Given the description of an element on the screen output the (x, y) to click on. 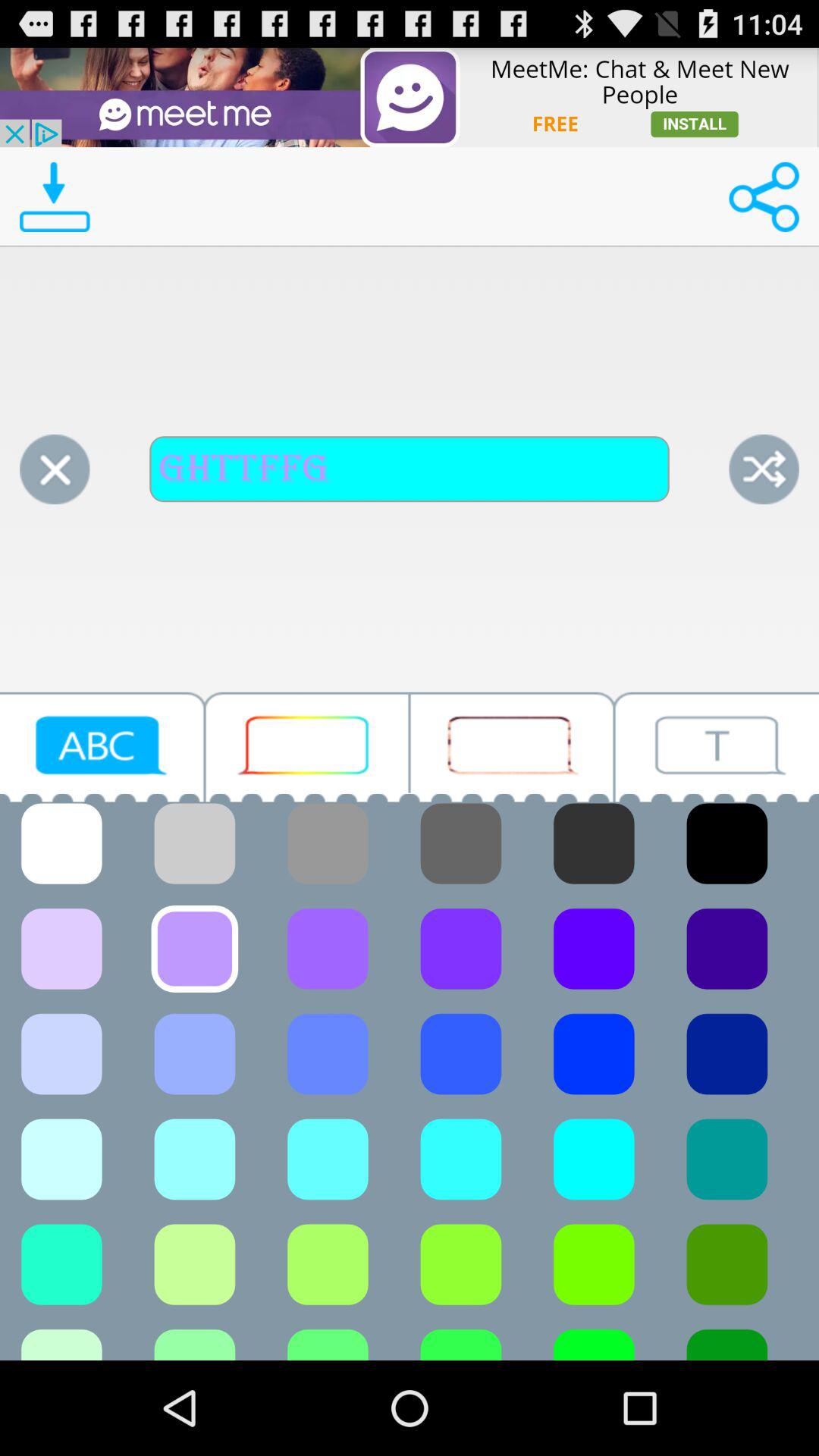
download picture (54, 197)
